Given the description of an element on the screen output the (x, y) to click on. 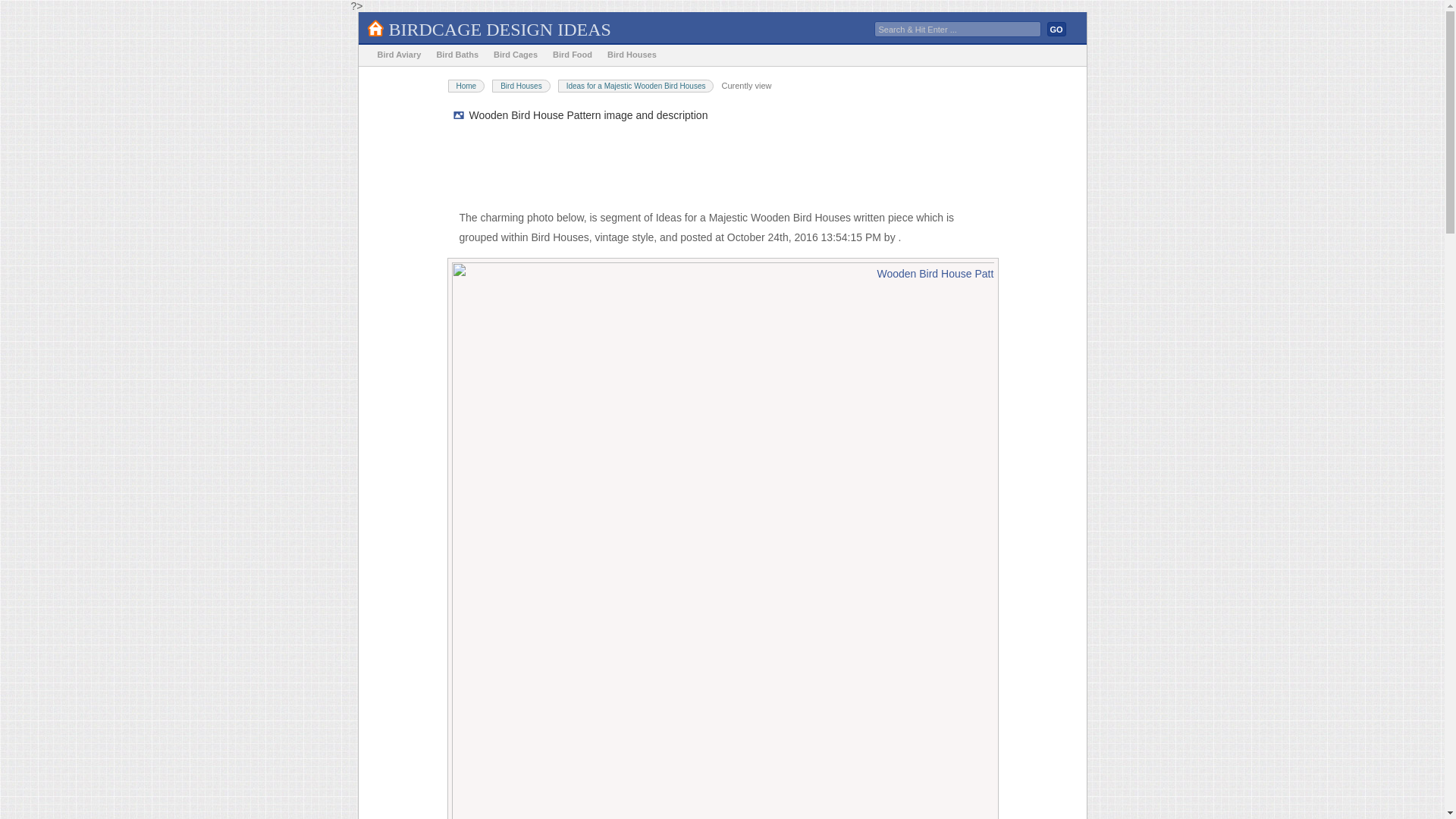
Bird Food (571, 54)
Bird Baths (457, 54)
GO (1055, 29)
Birdcage Design Ideas (499, 29)
Bird Cages (515, 54)
Bird Aviary (399, 54)
GO (1055, 29)
Advertisement (722, 167)
Bird Houses (521, 85)
BIRDCAGE DESIGN IDEAS (499, 29)
